Given the description of an element on the screen output the (x, y) to click on. 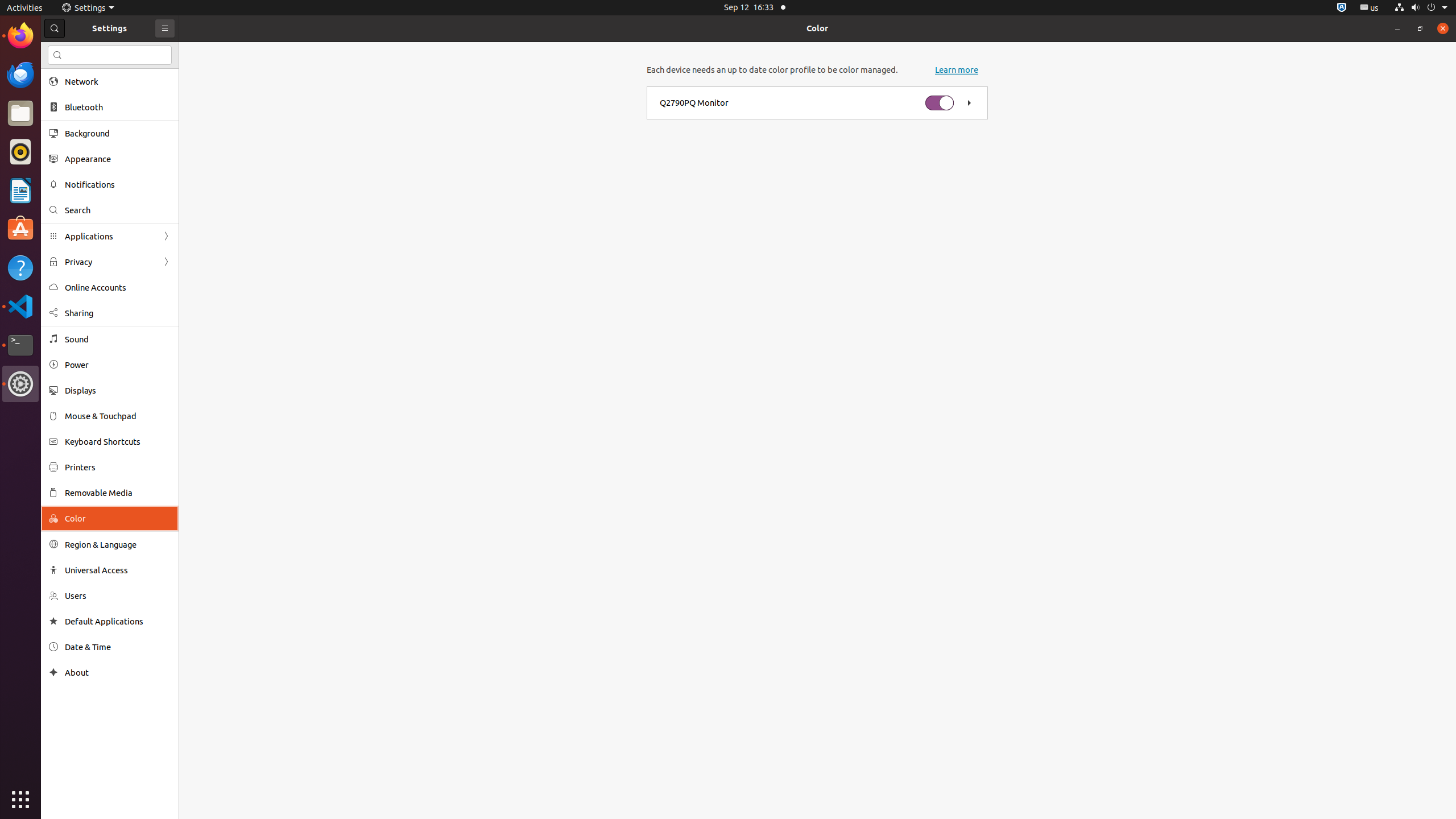
Applications Element type: label (109, 236)
About Element type: icon (53, 672)
Bluetooth Element type: label (117, 107)
Activities Element type: label (24, 7)
